Given the description of an element on the screen output the (x, y) to click on. 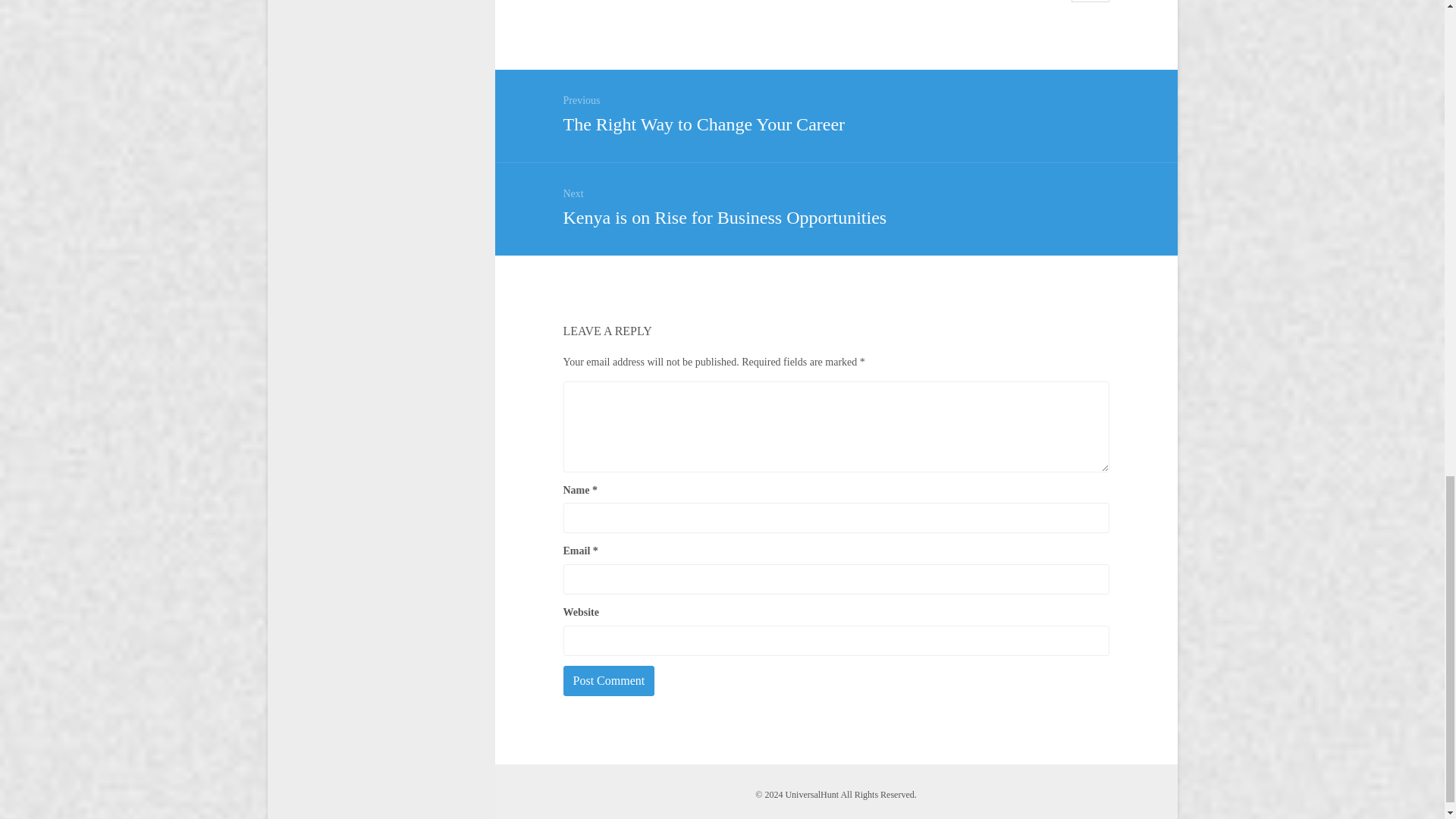
Post Comment (607, 680)
Post Comment (835, 205)
